Given the description of an element on the screen output the (x, y) to click on. 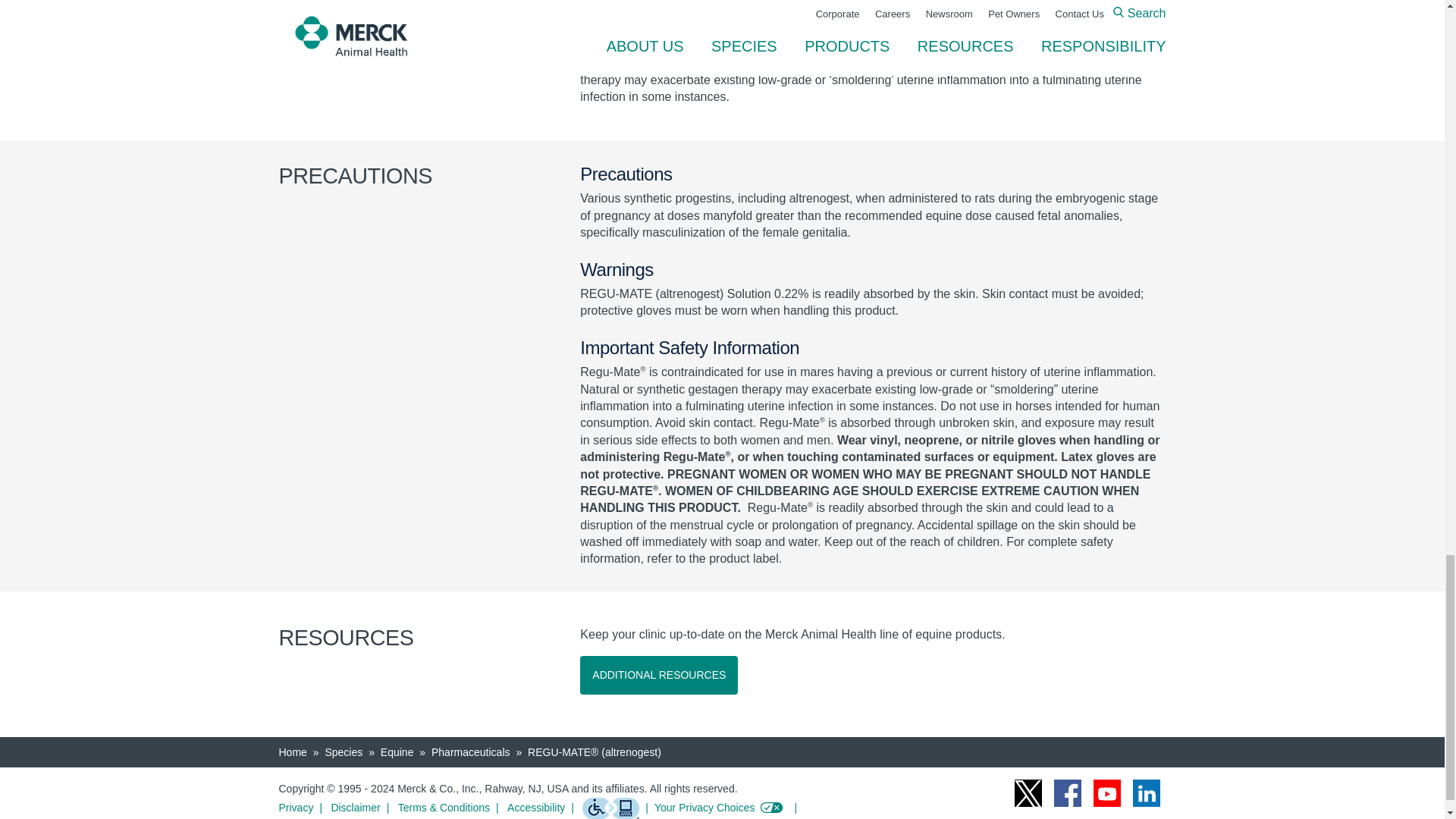
Facebook: Merck Animal Health USA (1067, 792)
Twitter: Merck Animal Health USA (1028, 792)
Linkedin: Merck Animal Health USA (1146, 792)
link to Your Privacy Choices (728, 807)
YouTube: Merck Animal Health USA (1107, 792)
